Given the description of an element on the screen output the (x, y) to click on. 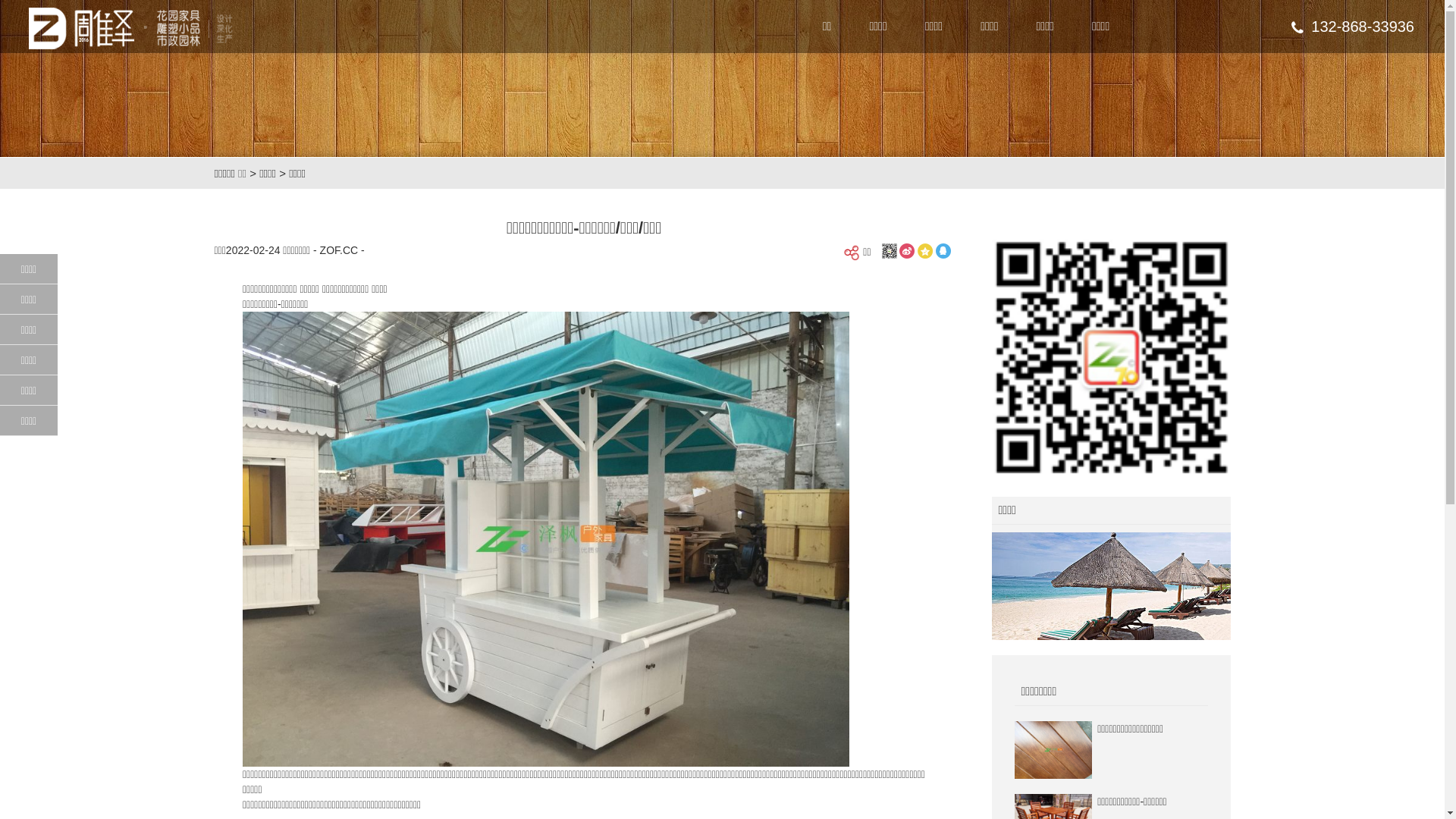
132-868-33936 Element type: text (1352, 26)
